Given the description of an element on the screen output the (x, y) to click on. 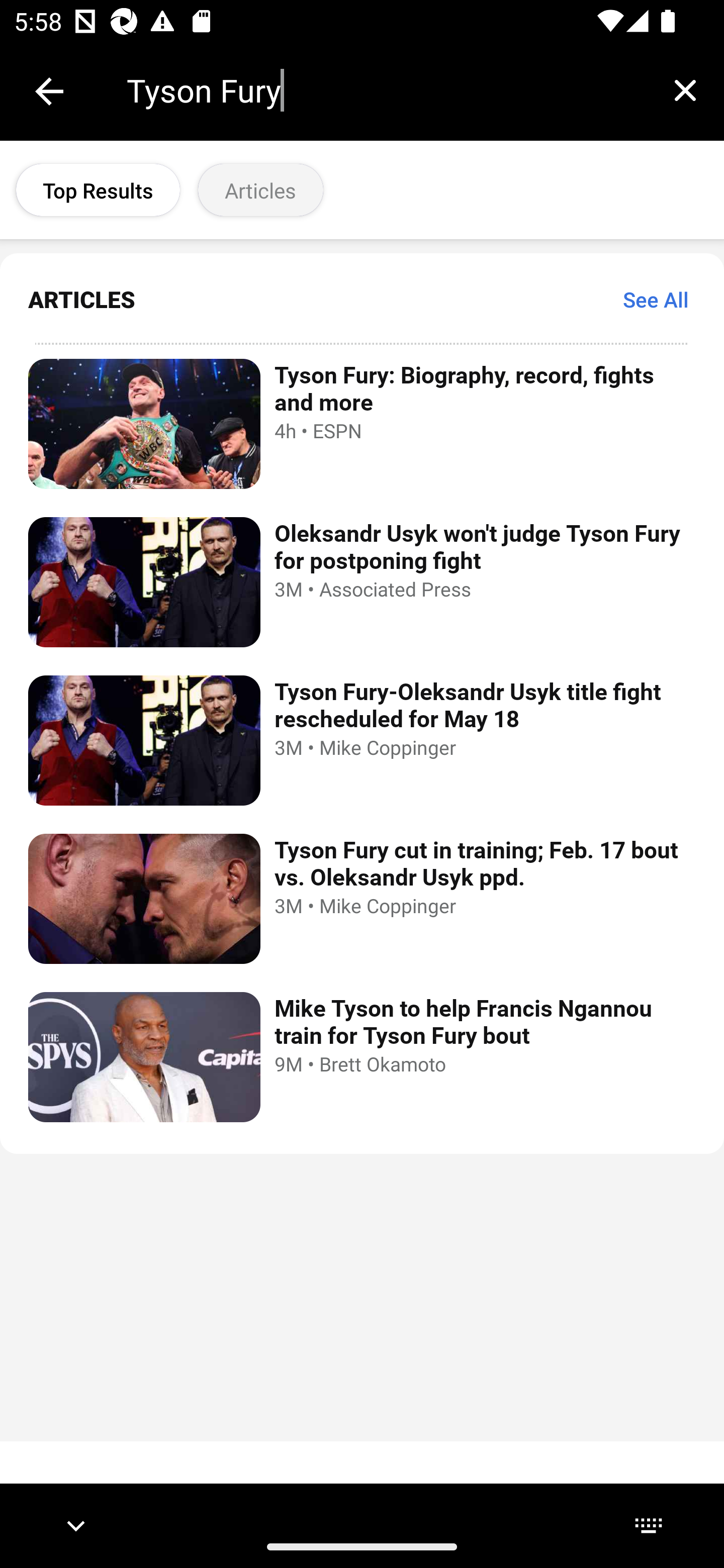
Collapse (49, 91)
Clear query (685, 89)
Tyson Fury (386, 90)
Top Results (97, 190)
Articles (260, 190)
See All (655, 298)
